Given the description of an element on the screen output the (x, y) to click on. 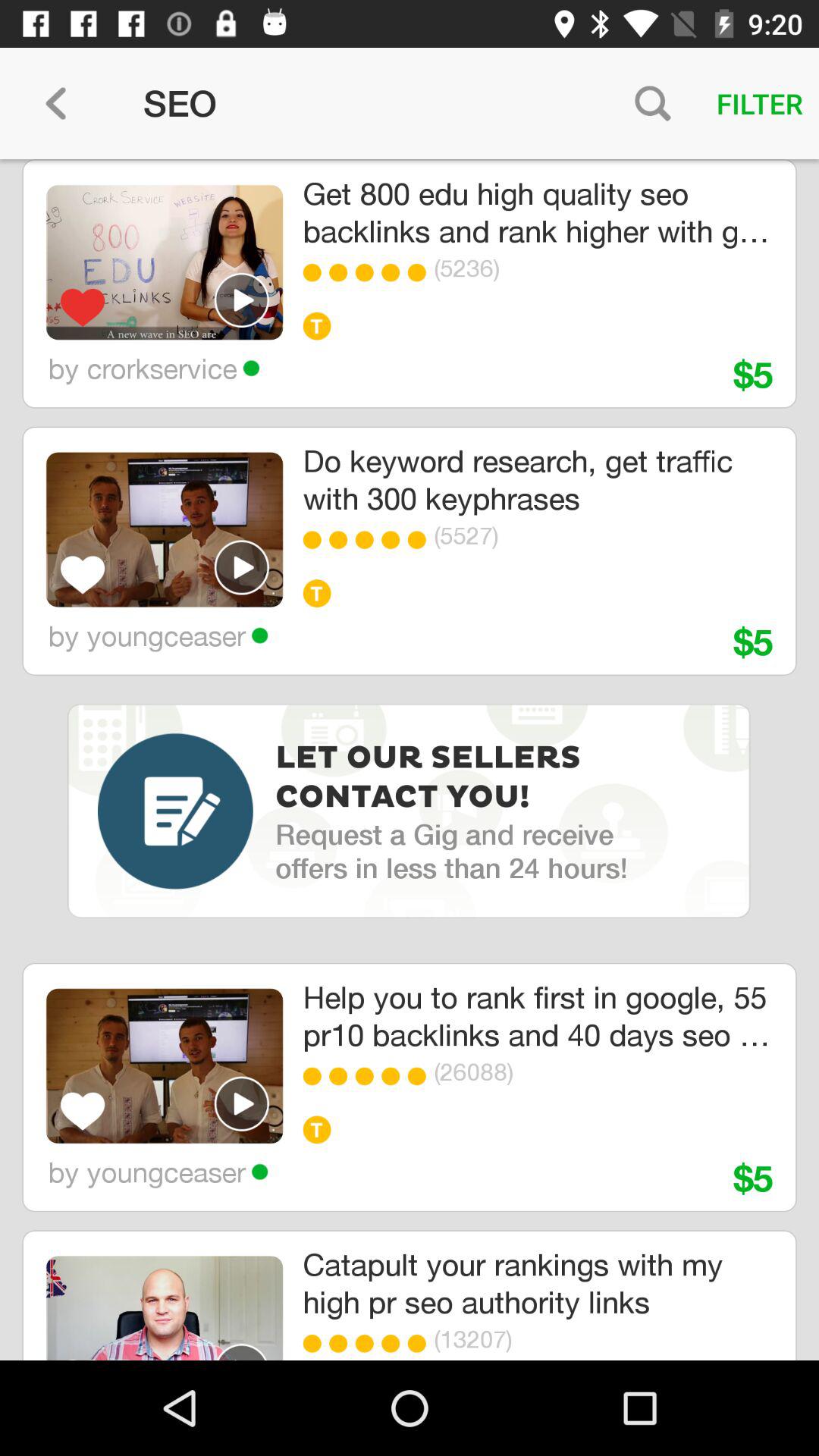
select item below do keyword research (368, 539)
